Given the description of an element on the screen output the (x, y) to click on. 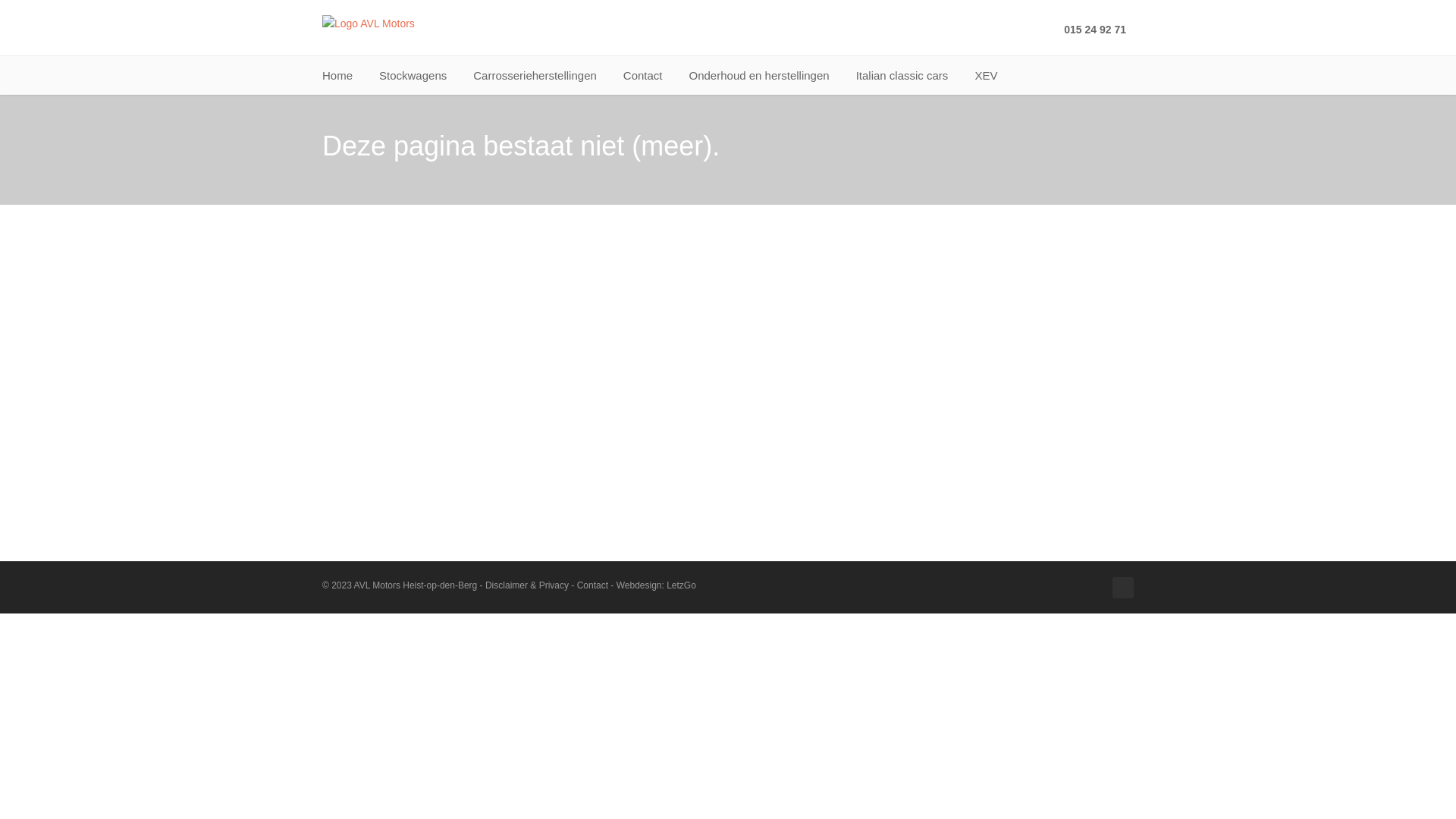
Carrosserieherstellingen Element type: text (534, 75)
Disclaimer & Privacy Element type: text (526, 585)
Stockwagens Element type: text (412, 75)
Contact Element type: text (592, 585)
Onderhoud en herstellingen Element type: text (759, 75)
Italian classic cars Element type: text (902, 75)
Home Element type: text (337, 75)
Webdesign: LetzGo Element type: text (656, 585)
XEV Element type: text (985, 75)
Contact Element type: text (642, 75)
